Given the description of an element on the screen output the (x, y) to click on. 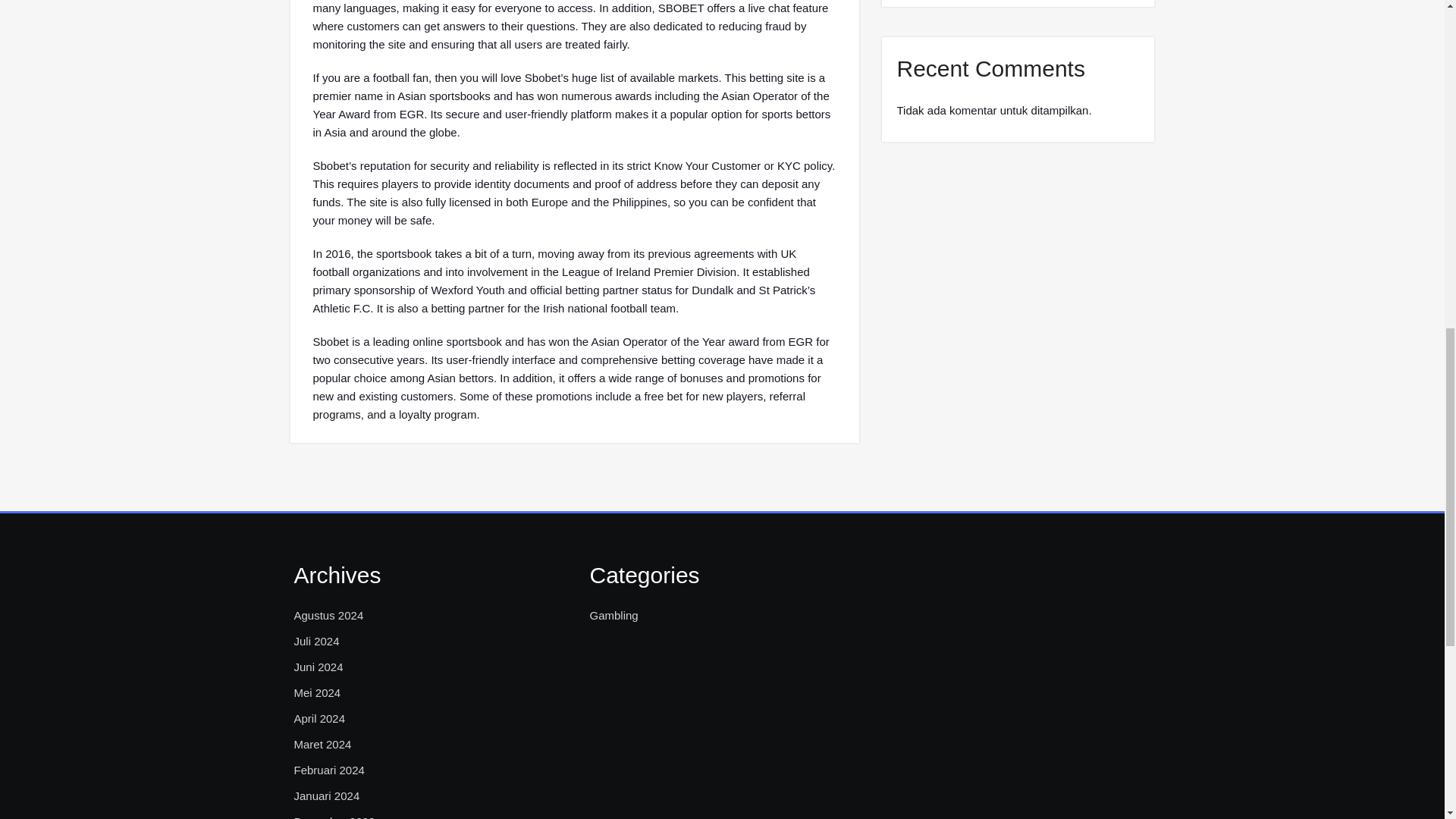
Agustus 2024 (329, 615)
Februari 2024 (329, 770)
April 2024 (320, 719)
Juni 2024 (318, 667)
Maret 2024 (323, 744)
Desember 2023 (334, 816)
Mei 2024 (317, 692)
Juli 2024 (316, 641)
Januari 2024 (326, 796)
